Given the description of an element on the screen output the (x, y) to click on. 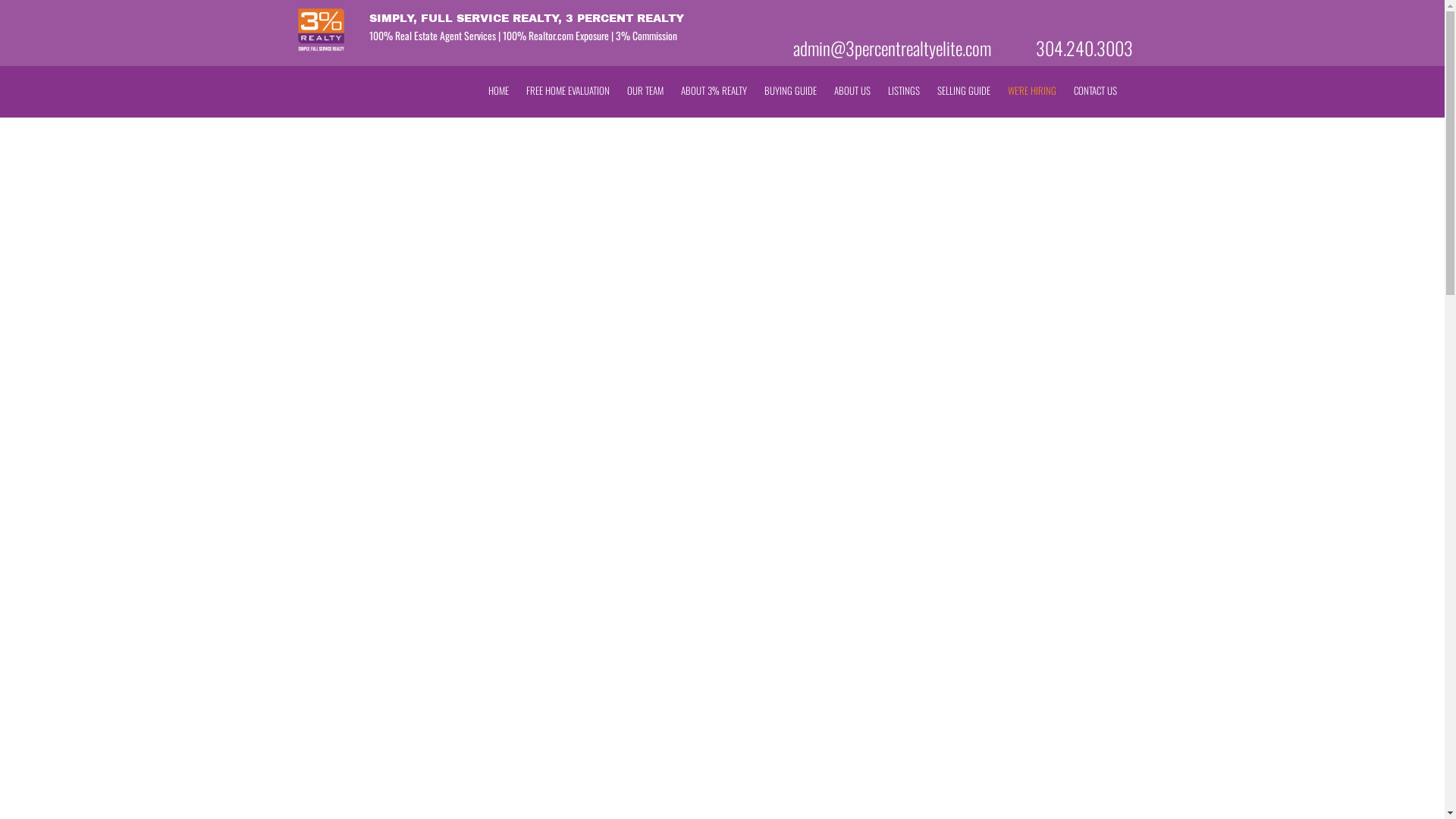
FREE HOME EVALUATION Element type: text (567, 90)
WE'RE HIRING Element type: text (1031, 90)
LISTINGS Element type: text (902, 90)
HOME Element type: text (498, 90)
ABOUT US Element type: text (852, 90)
ABOUT 3% REALTY Element type: text (713, 90)
304.240.3003 Element type: text (1083, 47)
admin@3percentrealtyelite.com Element type: text (892, 47)
CONTACT US Element type: text (1095, 90)
OUR TEAM Element type: text (644, 90)
BUYING GUIDE Element type: text (790, 90)
SELLING GUIDE Element type: text (963, 90)
